Given the description of an element on the screen output the (x, y) to click on. 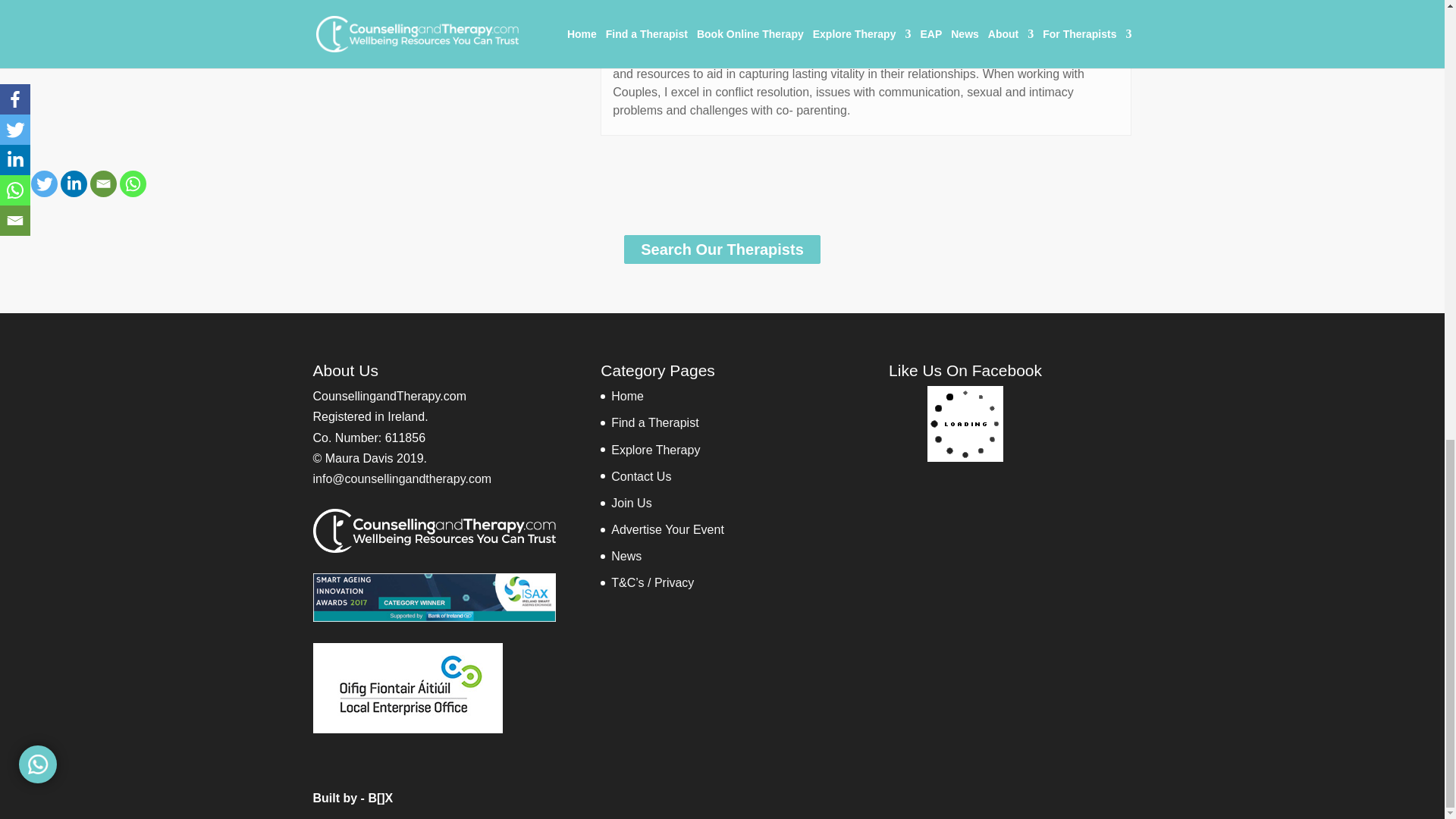
Twitter (44, 183)
all projects (722, 249)
Email (103, 183)
Facebook (14, 183)
Linkedin (74, 183)
Whatsapp (133, 183)
